Given the description of an element on the screen output the (x, y) to click on. 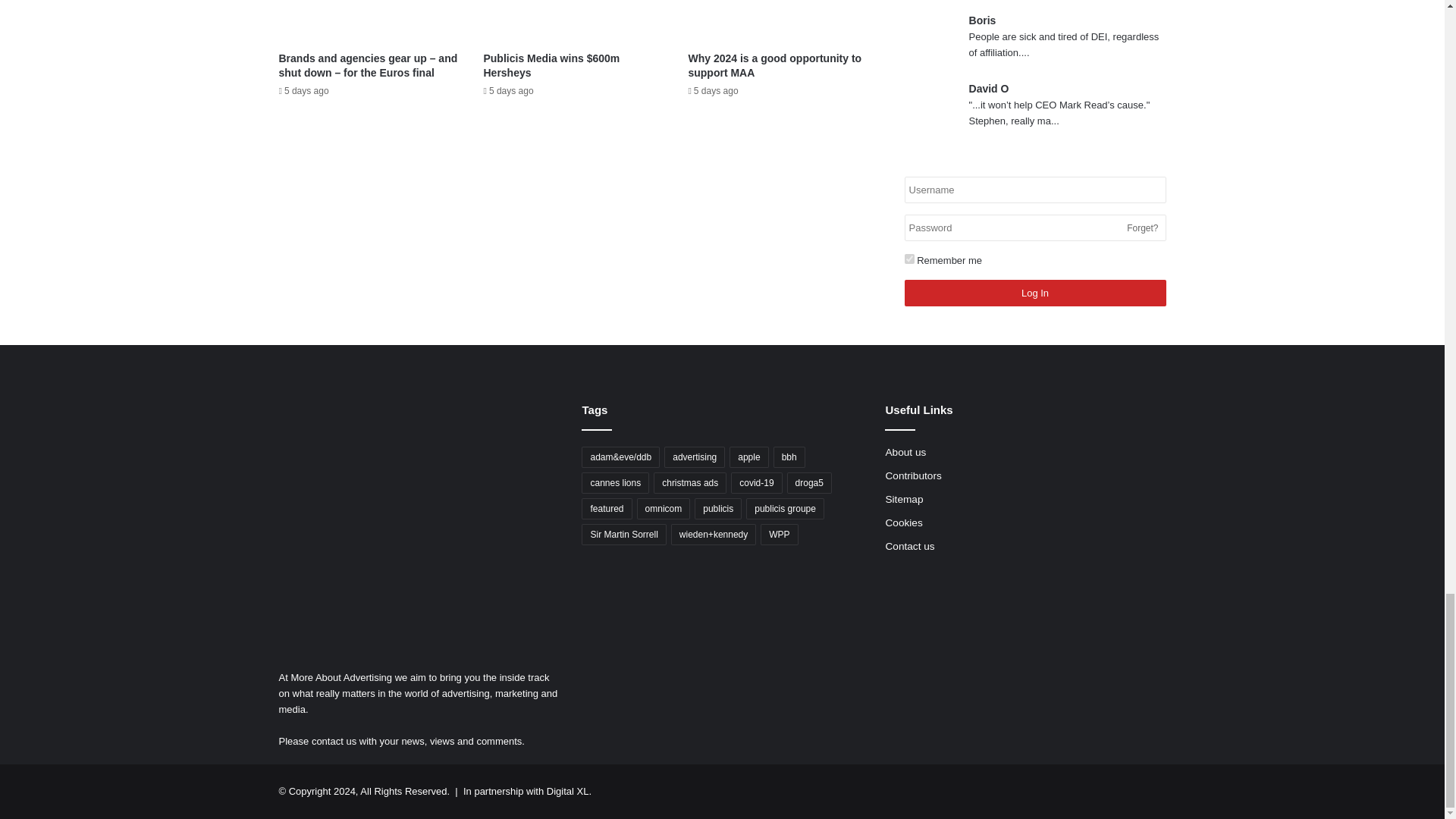
Password (1035, 227)
Username (1035, 189)
forever (909, 258)
